Given the description of an element on the screen output the (x, y) to click on. 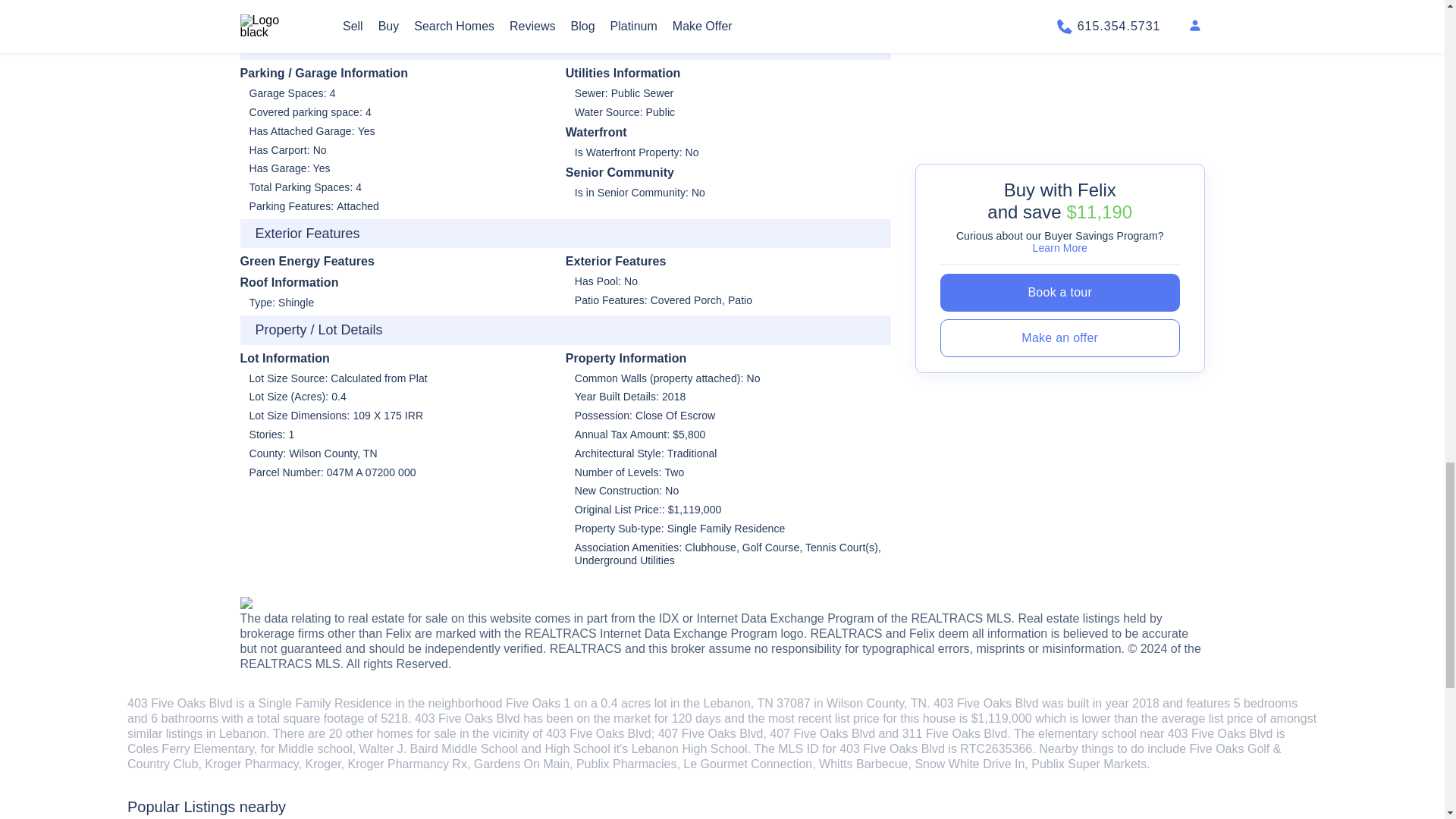
311 Five Oaks Blvd (954, 733)
407 Five Oaks Blvd (822, 733)
407 Five Oaks Blvd (710, 733)
